Given the description of an element on the screen output the (x, y) to click on. 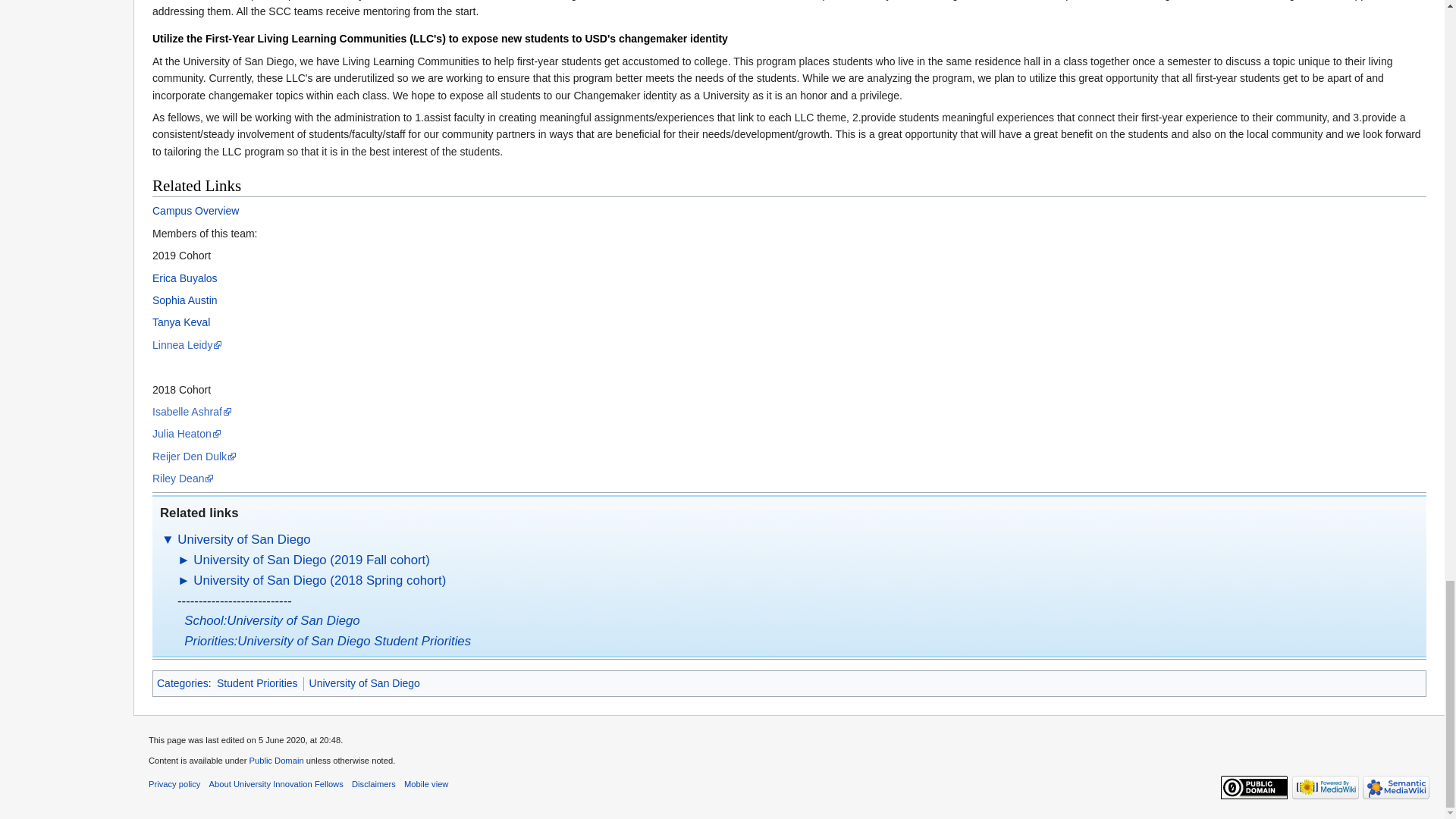
Isabelle Ashraf (191, 411)
Erica buyalos (184, 277)
Tanya Keval (180, 322)
Tanya Keval (180, 322)
Reijer Den Dulk (193, 456)
Linnea Leidy (187, 345)
Erica Buyalos (184, 277)
Campus Overview (195, 210)
Julia Heaton (186, 433)
Sophia Austin (184, 300)
